Given the description of an element on the screen output the (x, y) to click on. 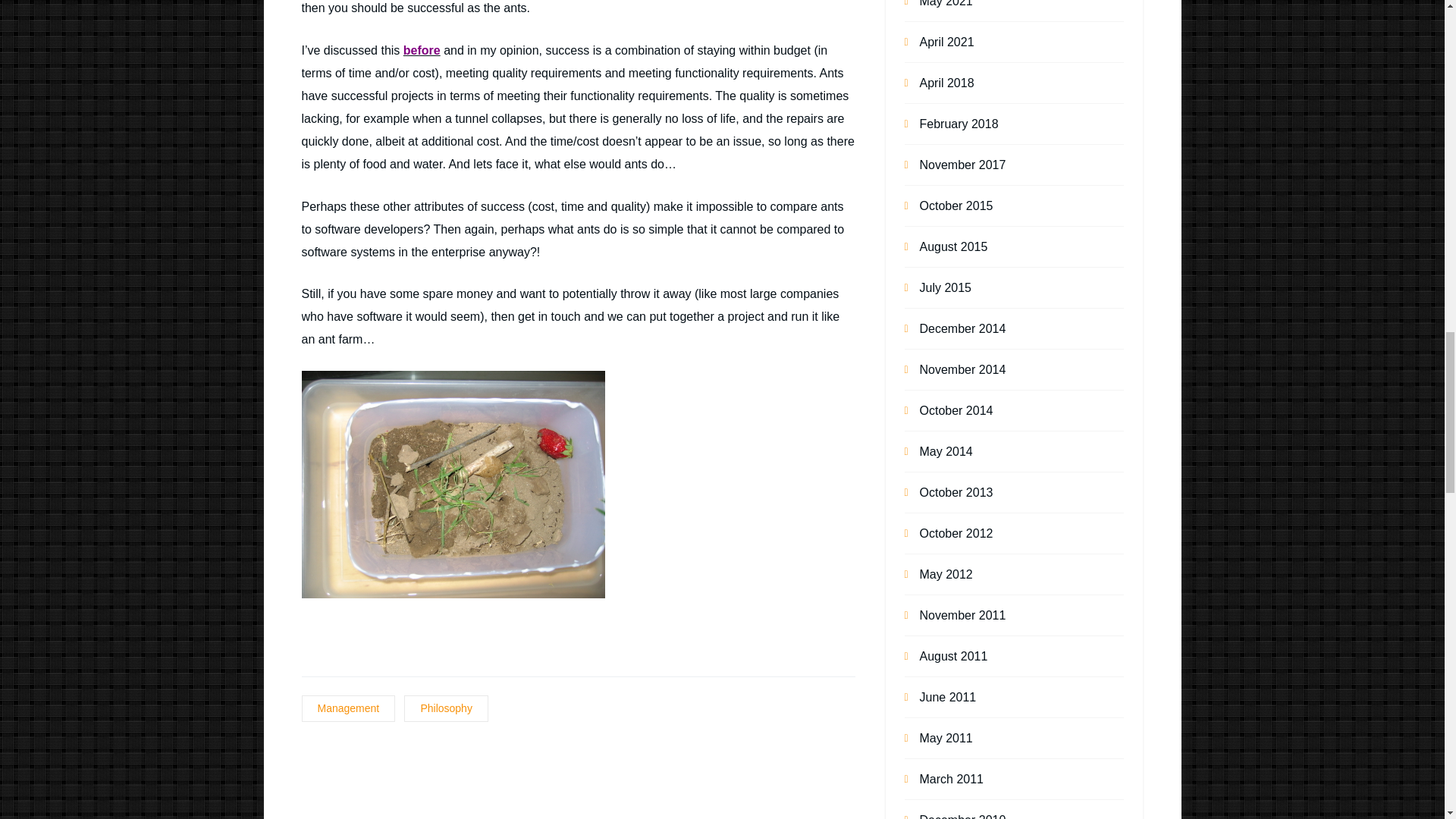
Philosophy (445, 708)
Management (348, 708)
before (422, 50)
